Given the description of an element on the screen output the (x, y) to click on. 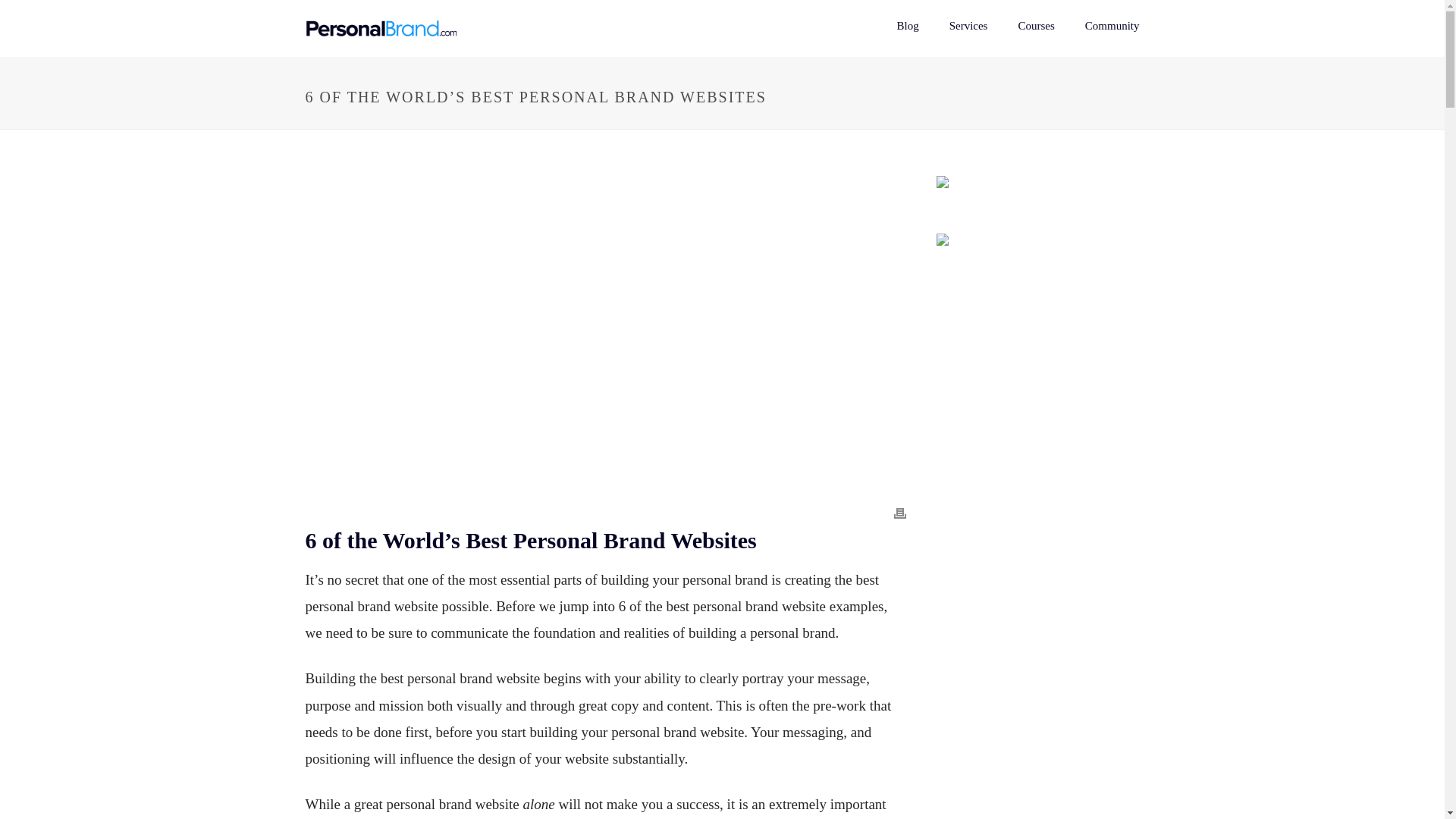
Blog (906, 26)
Courses (1035, 26)
Community (1112, 26)
Courses (1035, 26)
Community (1112, 26)
Blog (906, 26)
Services (968, 26)
How to Build a Personal Brand (380, 27)
Services (968, 26)
